Given the description of an element on the screen output the (x, y) to click on. 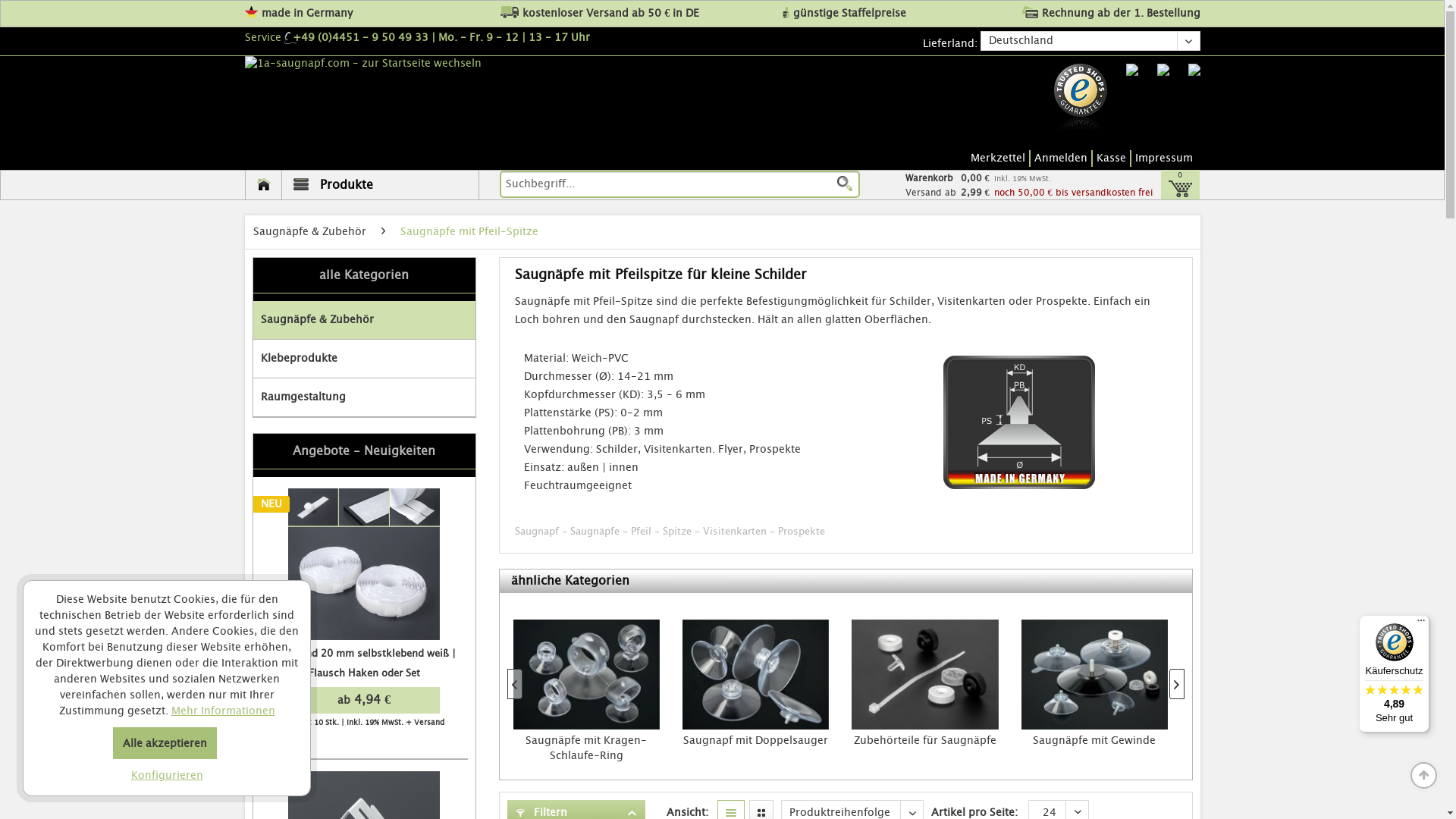
0 Element type: text (1176, 184)
Produkte Element type: text (379, 184)
Merkzettel Element type: text (1000, 158)
Anmelden Element type: text (1063, 158)
Saugnapf mit Pfeil-Spitze Element type: hover (1019, 422)
Mehr Informationen Element type: text (223, 710)
Raumgestaltung Element type: text (364, 397)
Konfigurieren Element type: text (166, 776)
NEU Element type: text (363, 564)
Saugnapf mit Doppelsauger Element type: text (1095, 748)
Sauger mit Schaft-Vertikalbohrung Element type: text (591, 748)
+49 (0)4451 - 9 50 49 33 Element type: text (355, 37)
Impressum Element type: text (1164, 158)
1a-saugnapf.com - zur Startseite wechseln Element type: hover (415, 63)
Klebeprodukte Element type: text (364, 358)
Kasse Element type: text (1113, 158)
Home Element type: hover (263, 184)
Alle akzeptieren Element type: text (164, 743)
0 Element type: text (1176, 185)
